Given the description of an element on the screen output the (x, y) to click on. 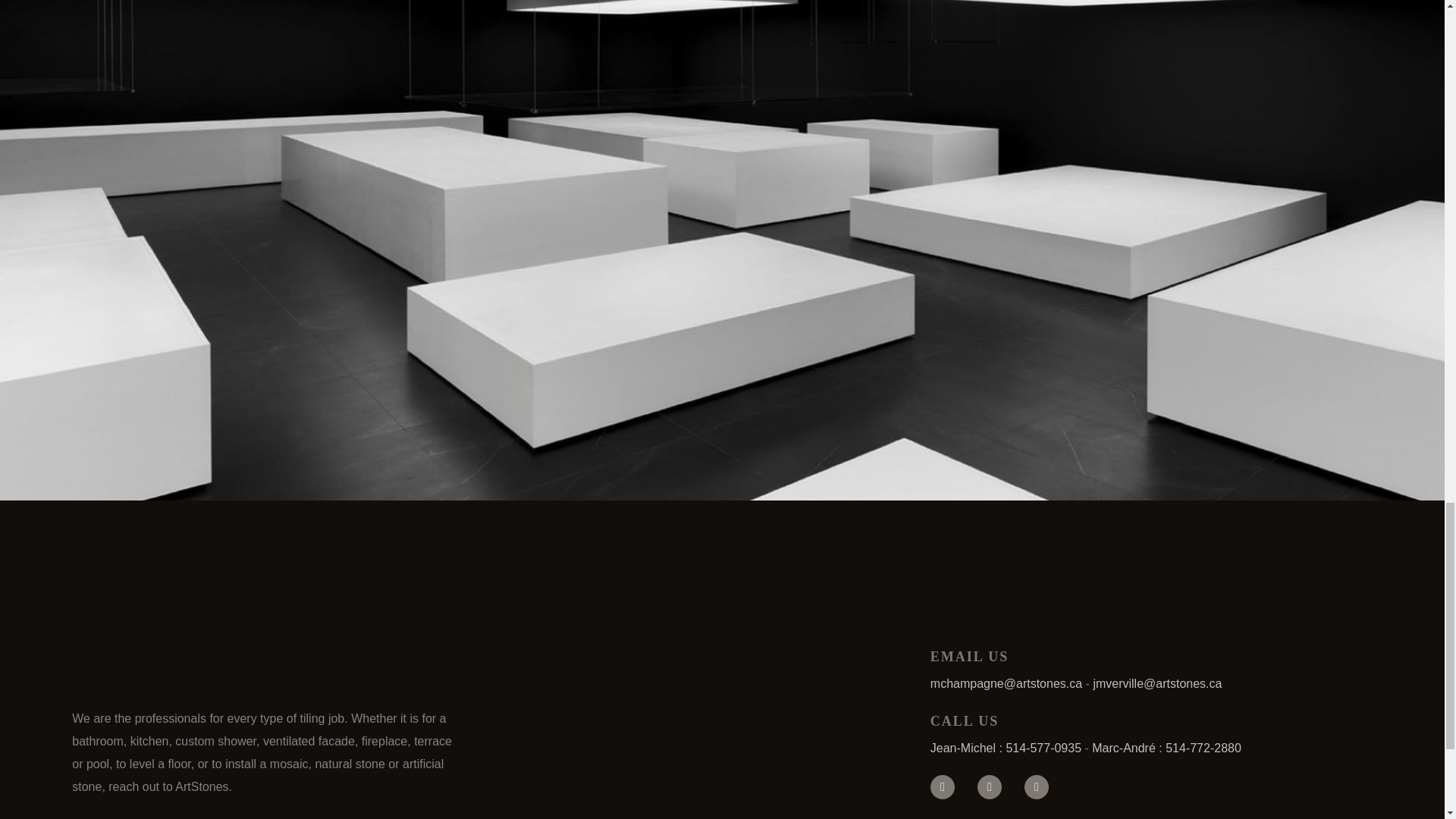
CALL US (964, 720)
EMAIL US (969, 656)
Jean-Michel : 514-577-0935 (1005, 748)
